Given the description of an element on the screen output the (x, y) to click on. 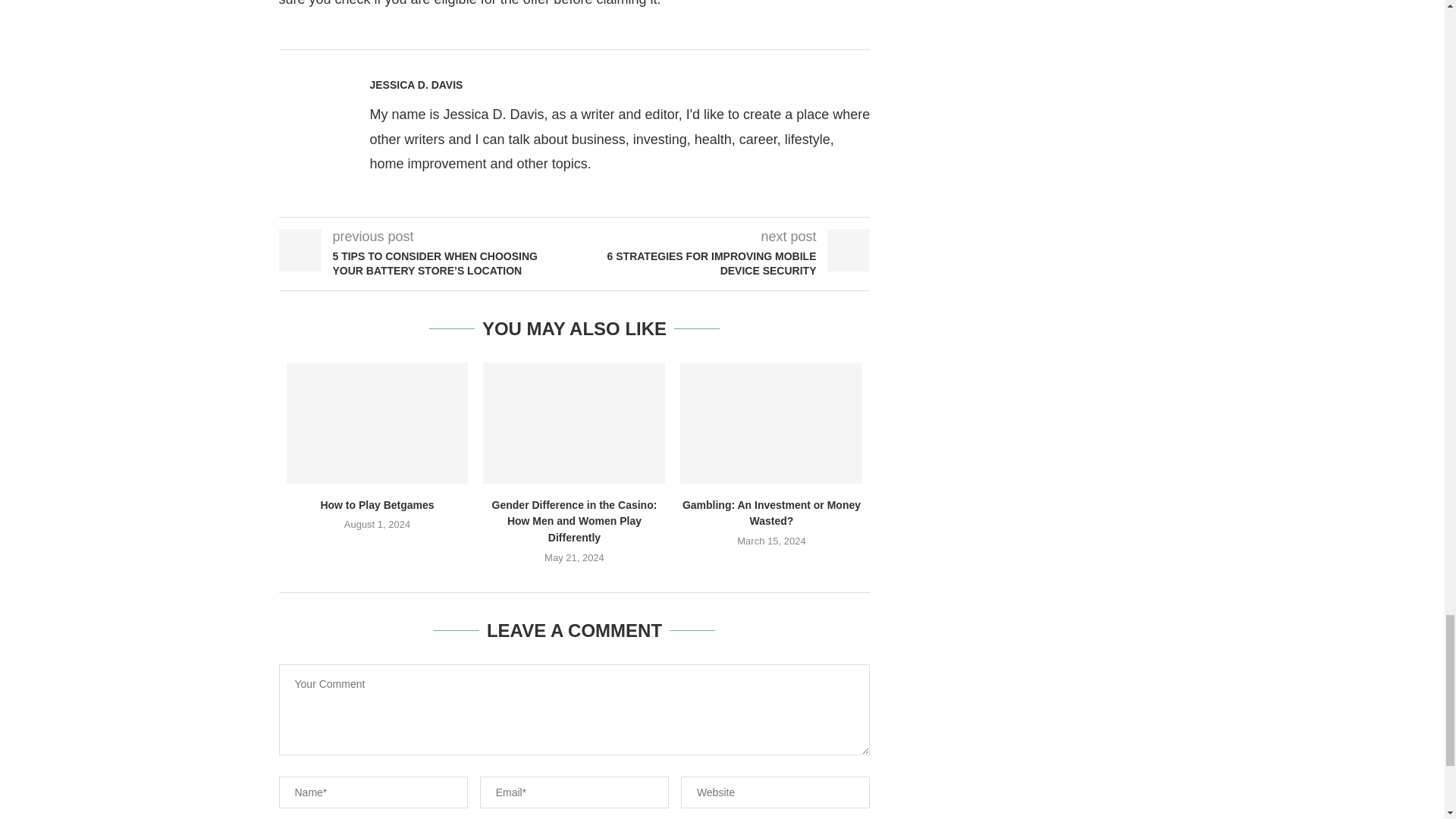
How to Play Betgames (377, 423)
Gambling: An Investment or Money Wasted? (770, 423)
Author Jessica D. Davis (416, 84)
